Given the description of an element on the screen output the (x, y) to click on. 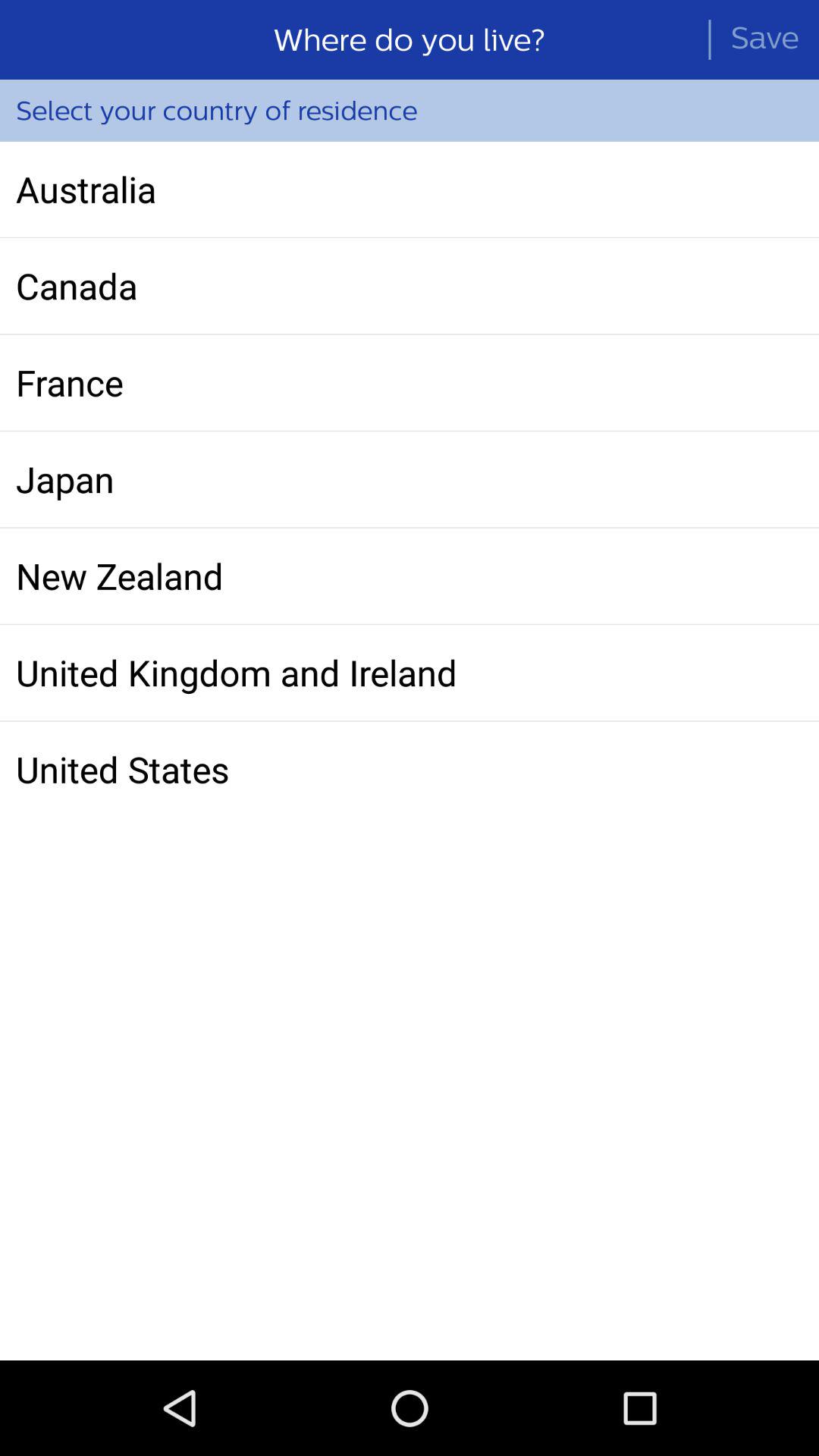
turn on australia (409, 189)
